Given the description of an element on the screen output the (x, y) to click on. 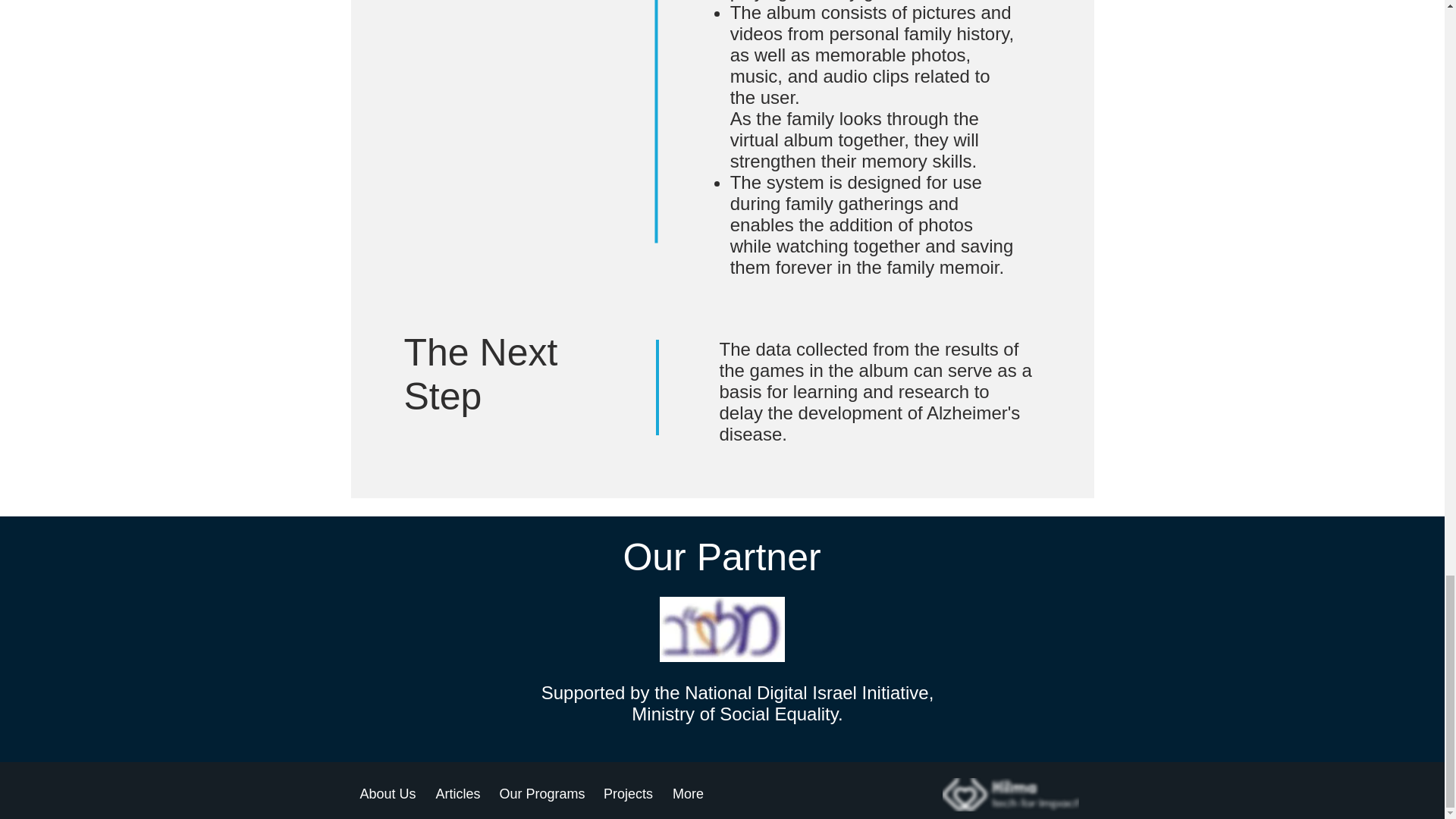
Our Programs (543, 793)
Projects (627, 793)
Articles (457, 793)
About Us (387, 793)
